Given the description of an element on the screen output the (x, y) to click on. 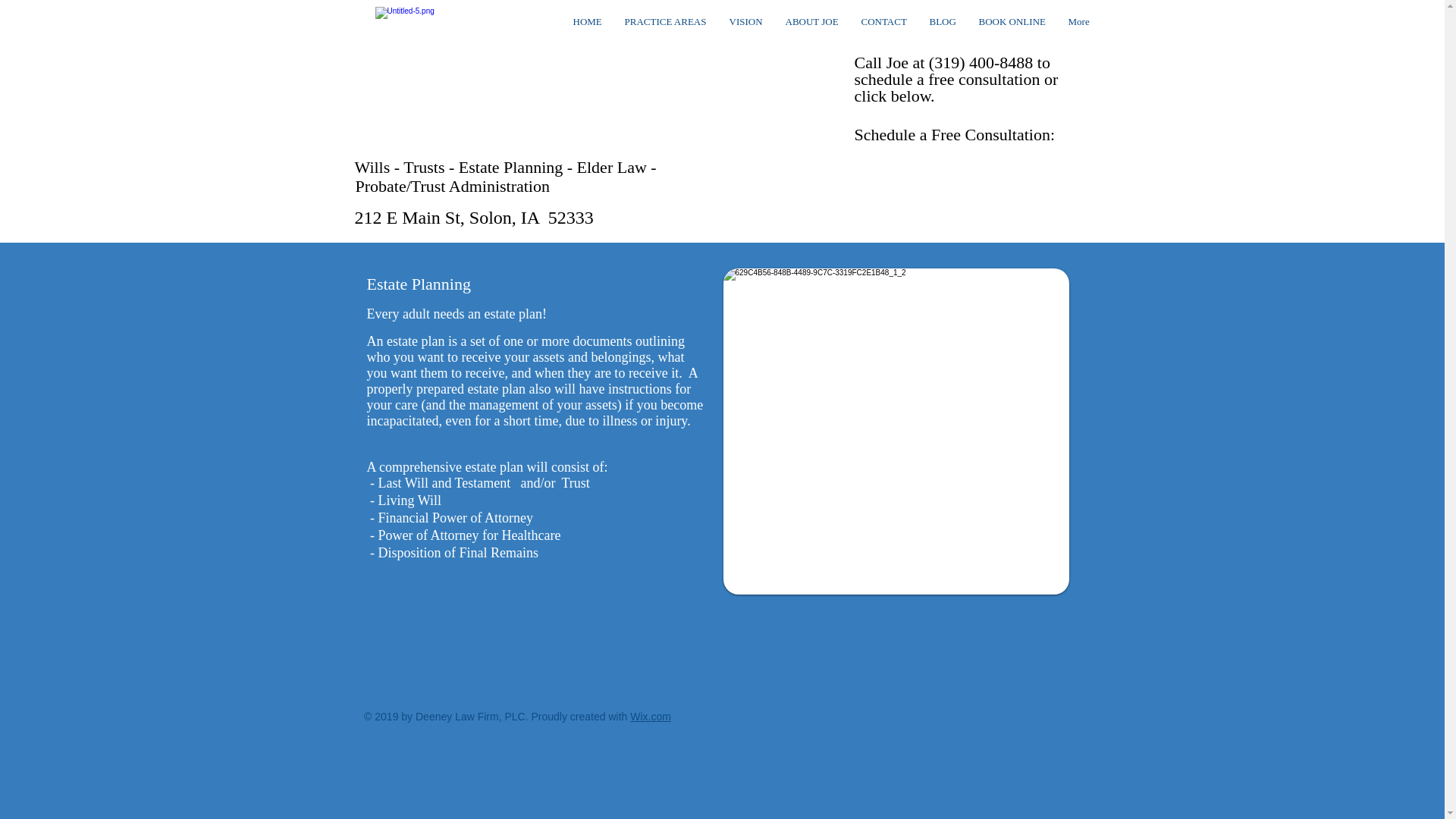
CONTACT (882, 21)
HOME (586, 21)
Trust (574, 482)
BLOG (941, 21)
ABOUT JOE (810, 21)
Power of Attorney for Healthcare (468, 534)
Living Will (409, 500)
Wix.com (650, 716)
PRACTICE AREAS (664, 21)
BOOK ONLINE (1012, 21)
Financial Power of Attorney (454, 517)
 - Last Will and Testament  (439, 482)
VISION (745, 21)
